Given the description of an element on the screen output the (x, y) to click on. 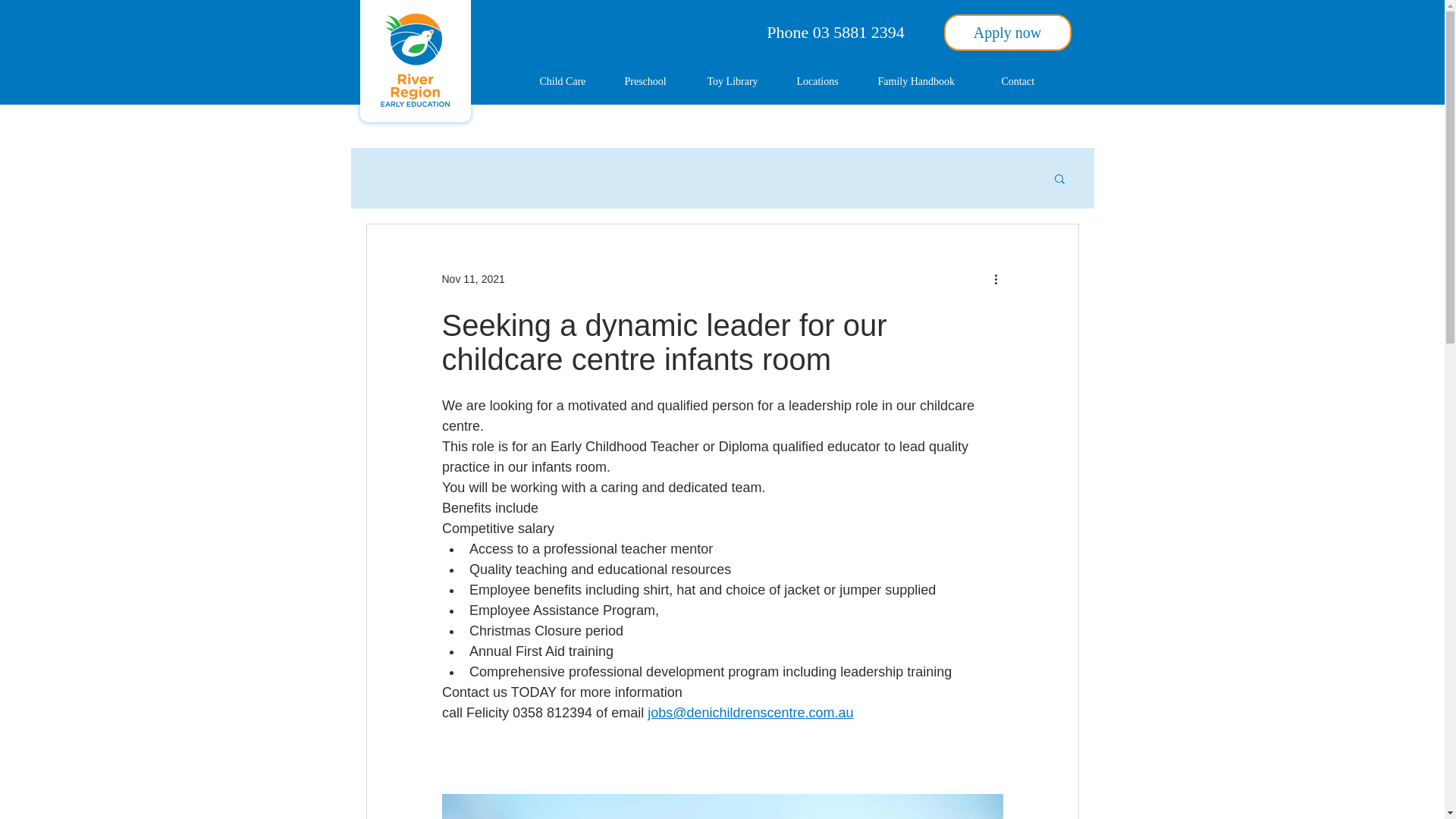
Family Handbook (928, 81)
Phone 03 5881 2394 (835, 31)
Toy Library (740, 81)
Apply now (1006, 32)
Preschool (653, 81)
Locations (826, 81)
Child Care (569, 81)
Nov 11, 2021 (472, 278)
Contact (1026, 81)
